Given the description of an element on the screen output the (x, y) to click on. 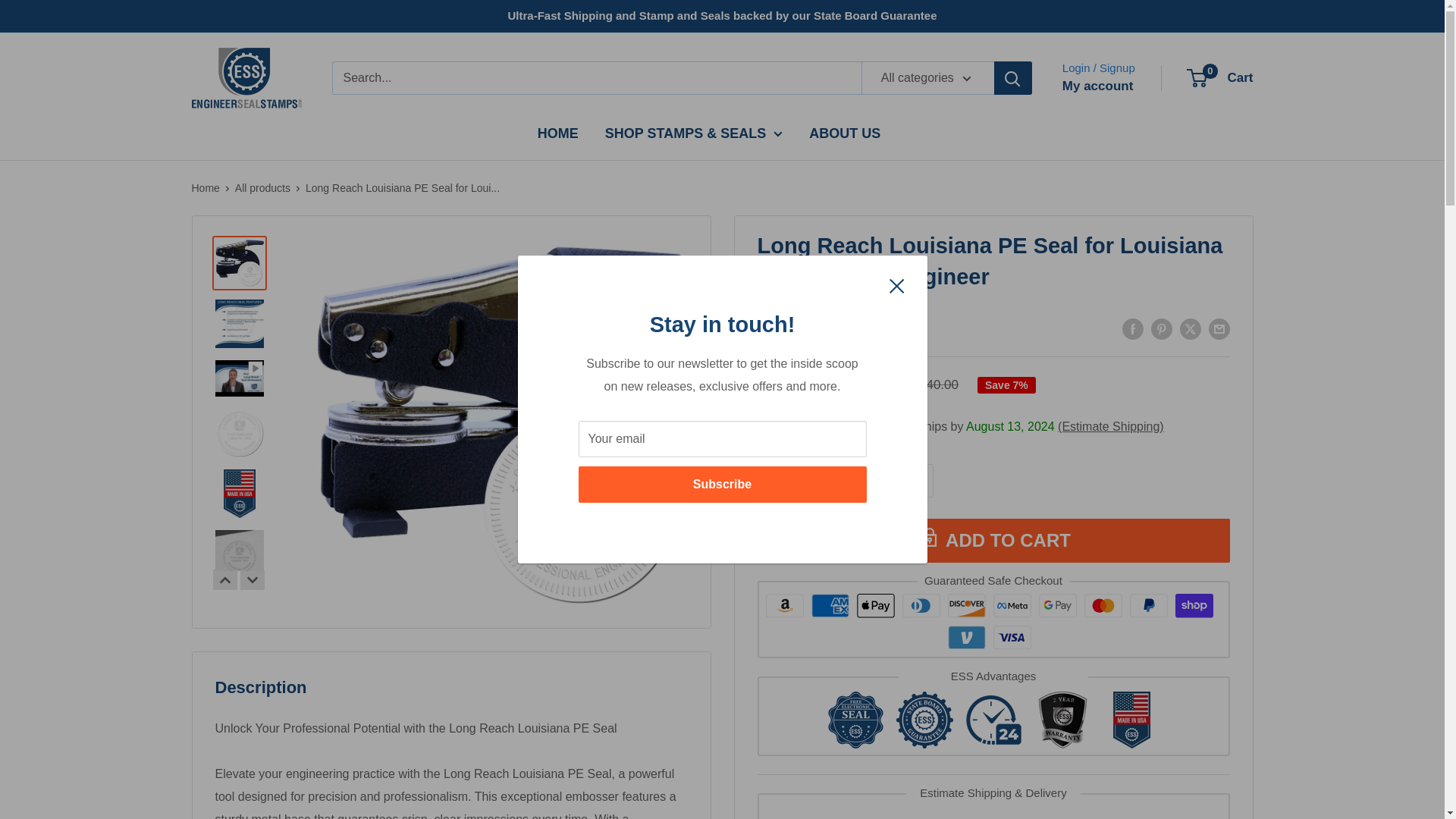
Decrease quantity by 1 (836, 480)
American Express (829, 605)
1 (876, 480)
Increase quantity by 1 (917, 480)
Amazon (784, 605)
